Given the description of an element on the screen output the (x, y) to click on. 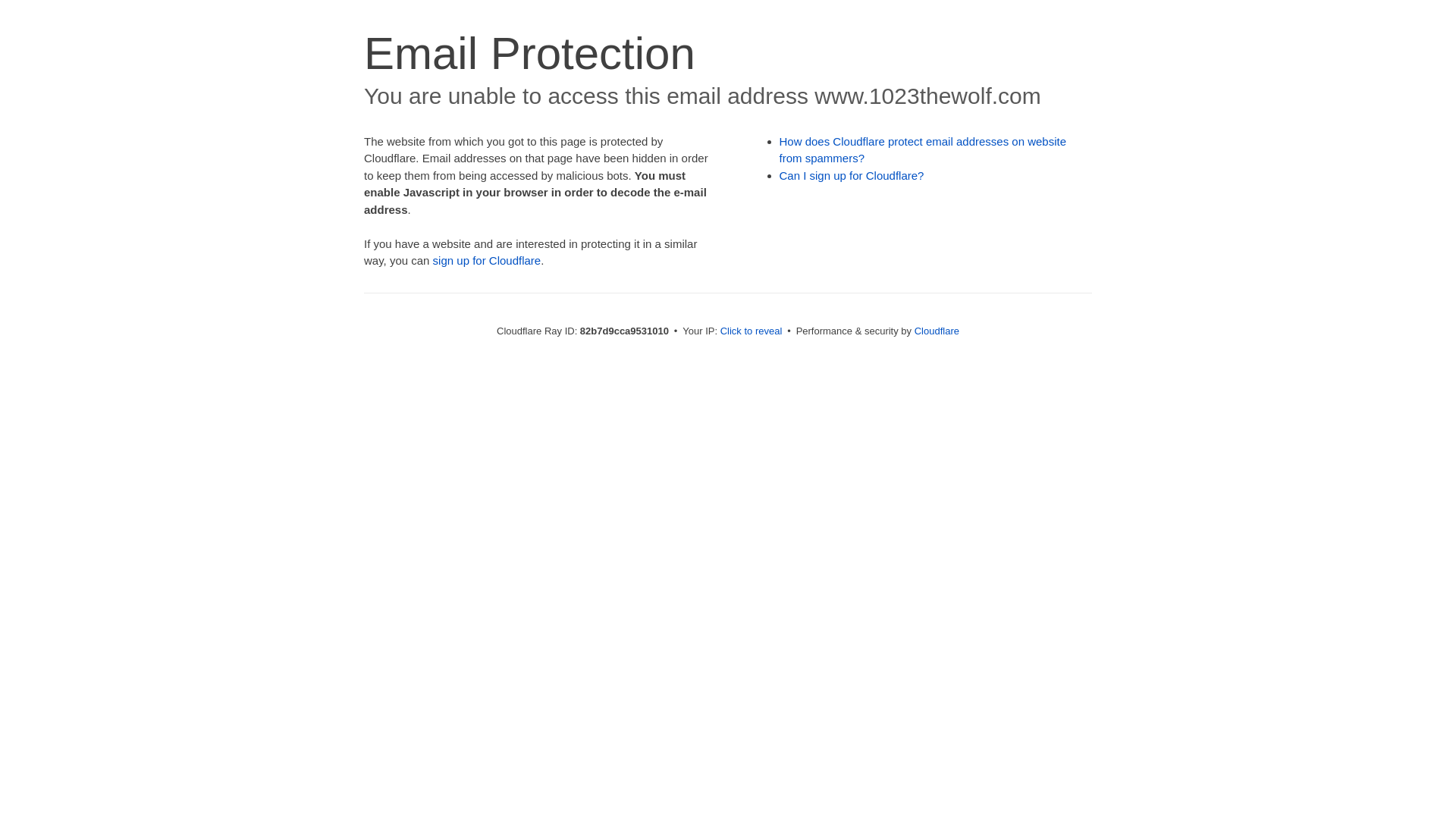
sign up for Cloudflare Element type: text (487, 260)
Click to reveal Element type: text (751, 330)
Cloudflare Element type: text (936, 330)
Can I sign up for Cloudflare? Element type: text (851, 175)
